Given the description of an element on the screen output the (x, y) to click on. 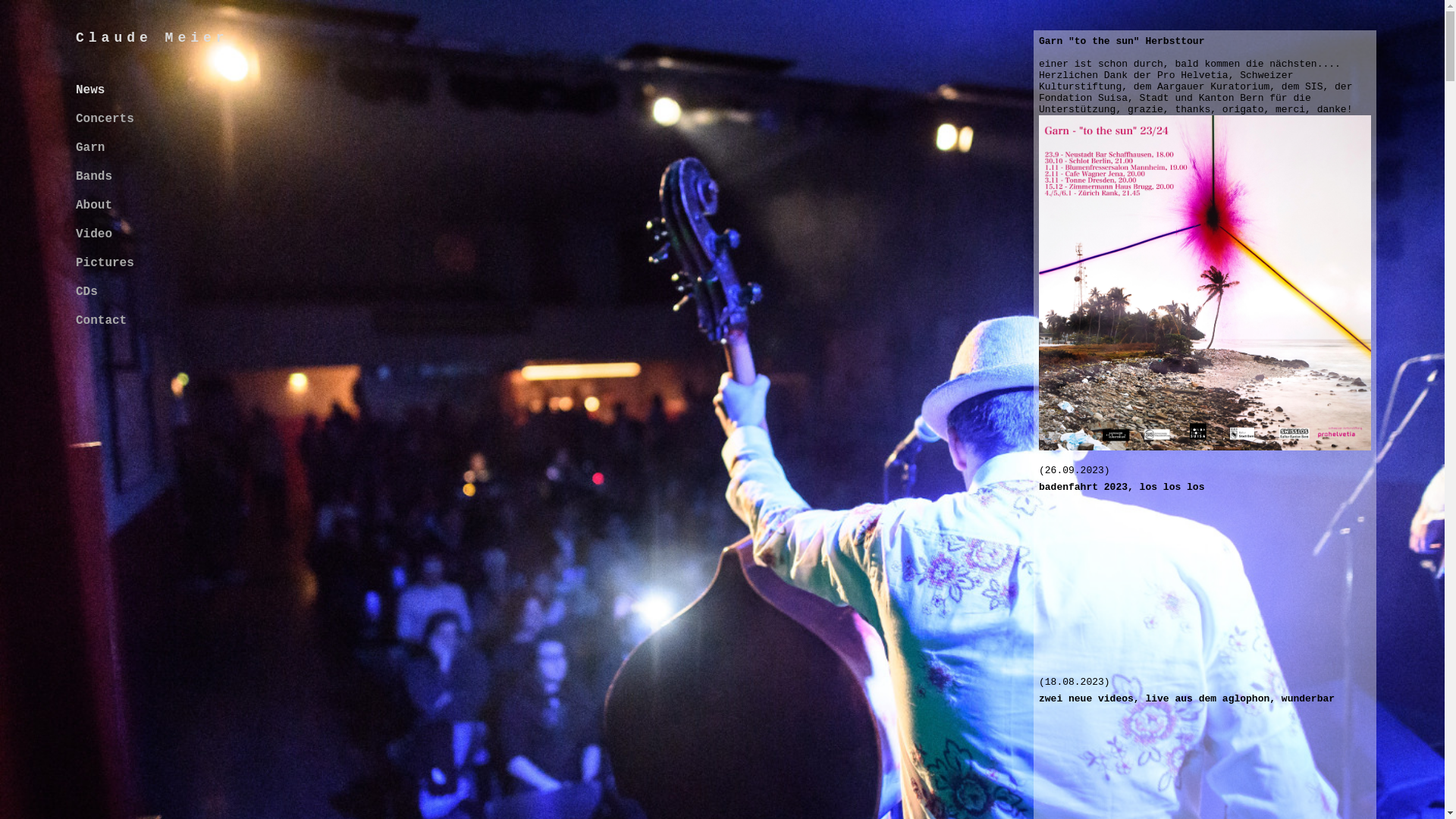
Video Element type: text (93, 234)
About Element type: text (93, 205)
CDs Element type: text (86, 291)
YouTube video player Element type: hover (1209, 582)
Contact Element type: text (100, 320)
Garn Element type: text (89, 147)
Concerts Element type: text (104, 118)
Bands Element type: text (93, 176)
Pictures Element type: text (104, 262)
